Given the description of an element on the screen output the (x, y) to click on. 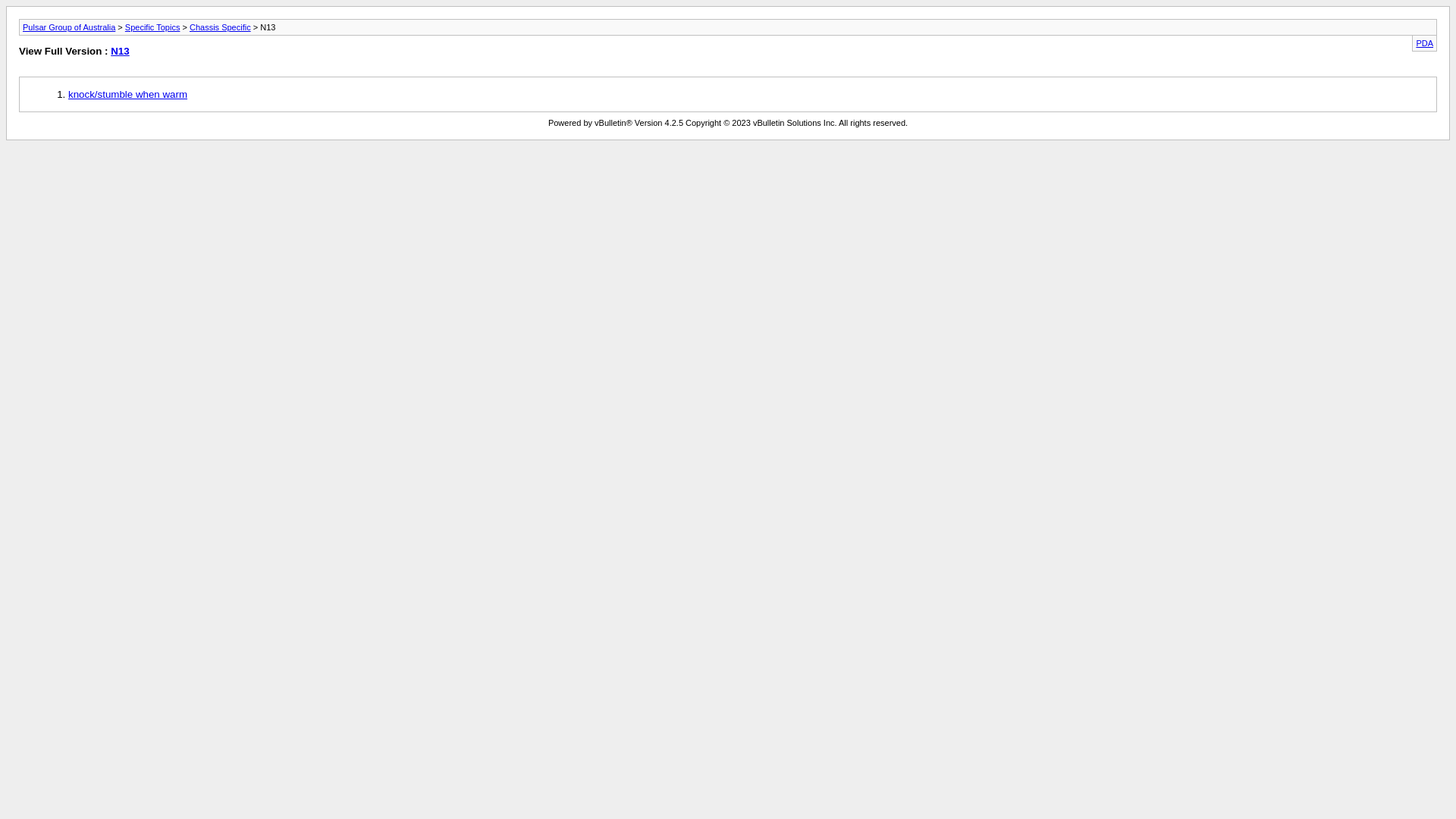
PDA Element type: text (1424, 42)
knock/stumble when warm Element type: text (127, 94)
Specific Topics Element type: text (152, 26)
Pulsar Group of Australia Element type: text (68, 26)
Chassis Specific Element type: text (220, 26)
N13 Element type: text (119, 50)
